Given the description of an element on the screen output the (x, y) to click on. 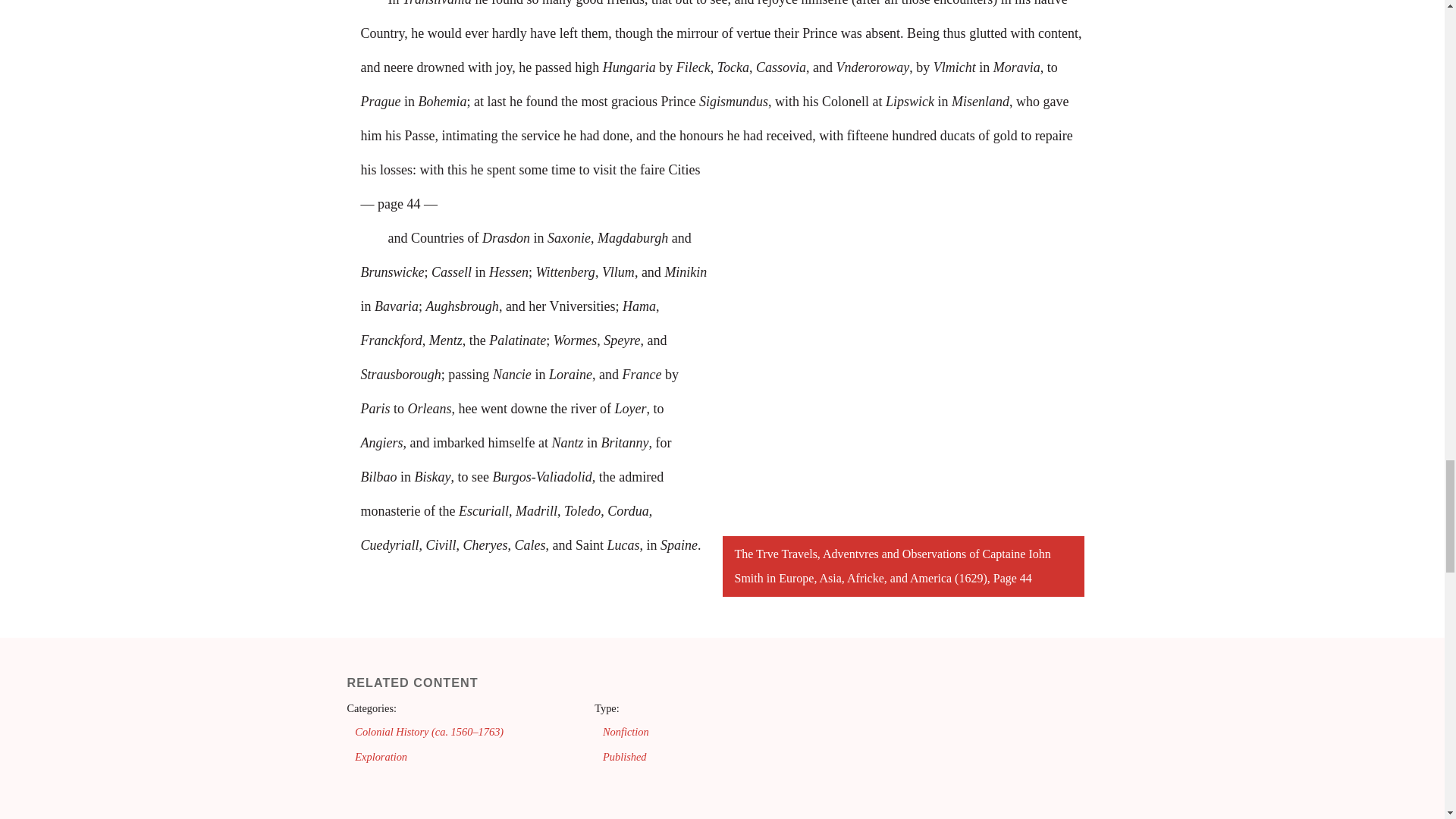
Nonfiction (625, 731)
Published (624, 756)
Exploration (381, 756)
